Given the description of an element on the screen output the (x, y) to click on. 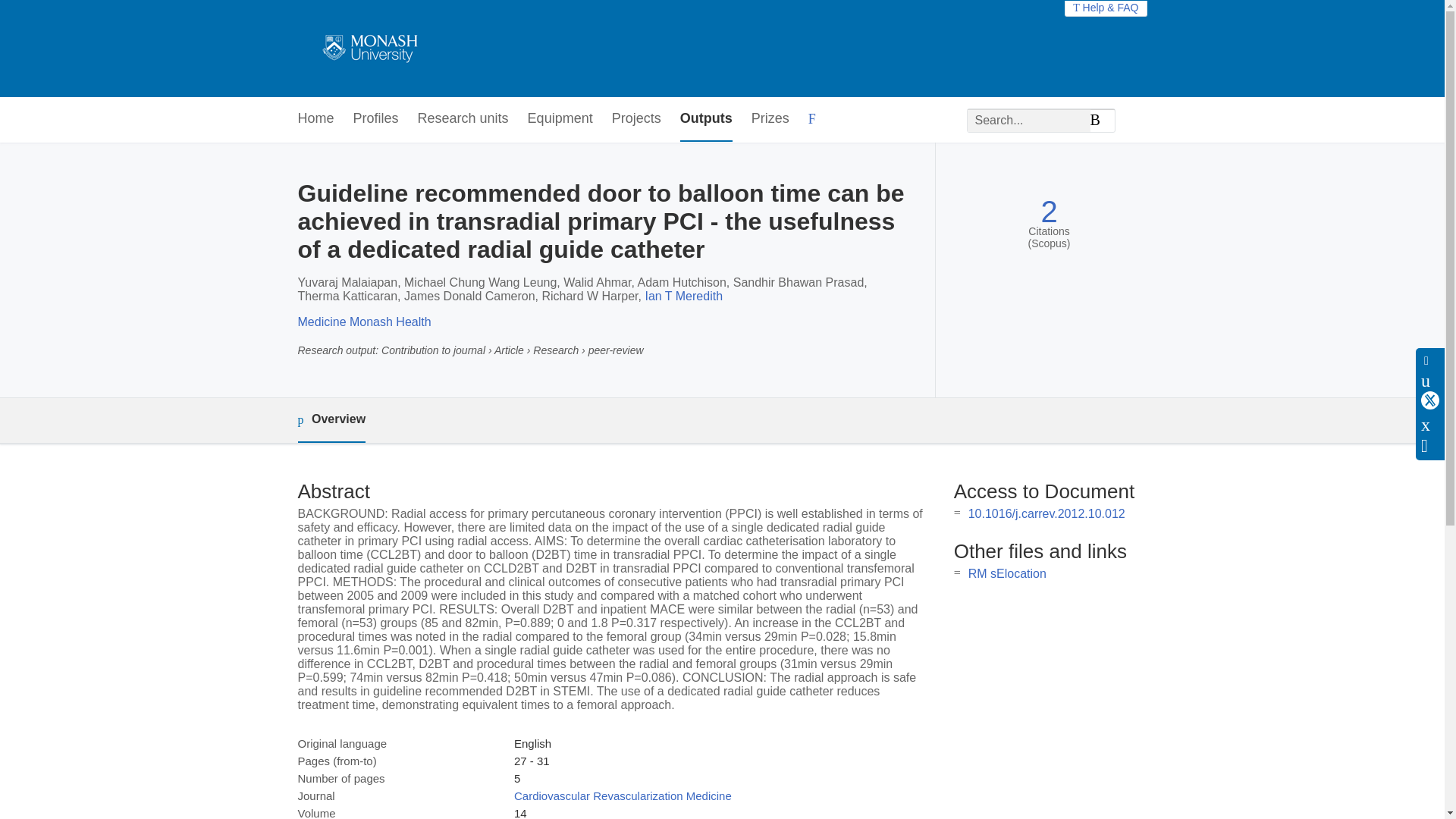
Ian T Meredith (683, 295)
Monash University Home (366, 48)
RM sElocation (1007, 573)
Medicine Monash Health (363, 321)
Overview (331, 420)
Profiles (375, 119)
Projects (636, 119)
Cardiovascular Revascularization Medicine (622, 795)
Research units (462, 119)
Outputs (705, 119)
